Given the description of an element on the screen output the (x, y) to click on. 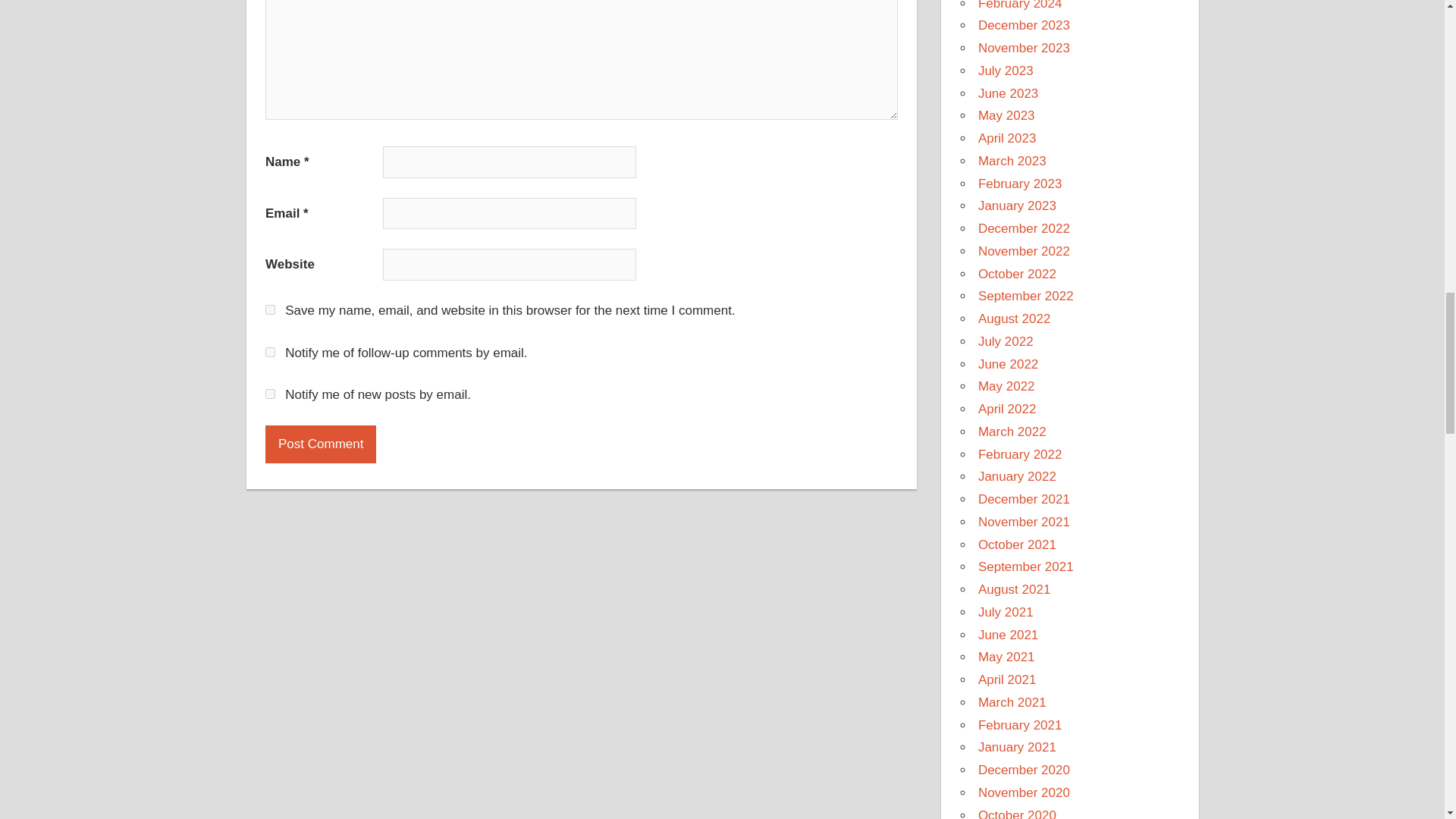
Post Comment (319, 444)
yes (269, 309)
subscribe (269, 393)
subscribe (269, 352)
Post Comment (319, 444)
